Given the description of an element on the screen output the (x, y) to click on. 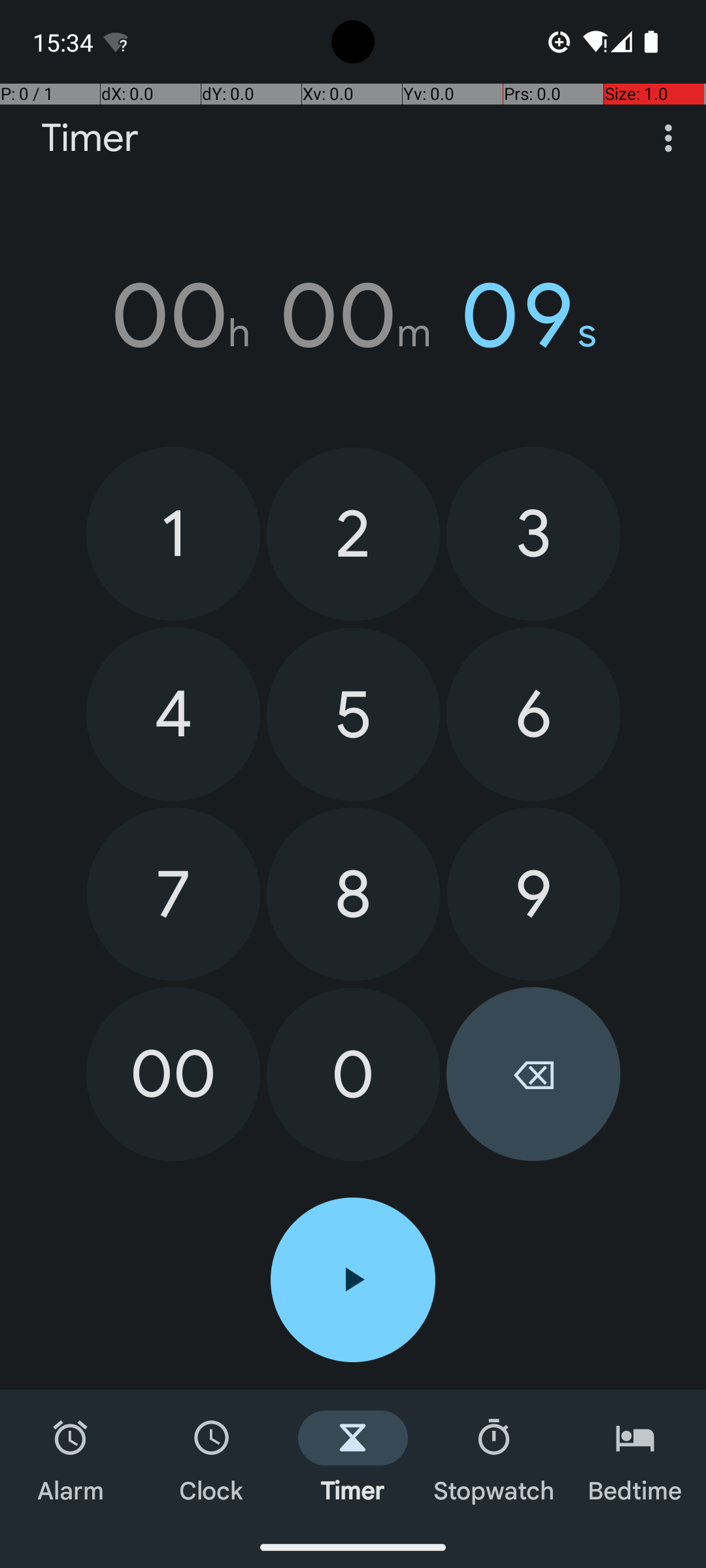
00h 00m 09s Element type: android.widget.TextView (353, 315)
